Given the description of an element on the screen output the (x, y) to click on. 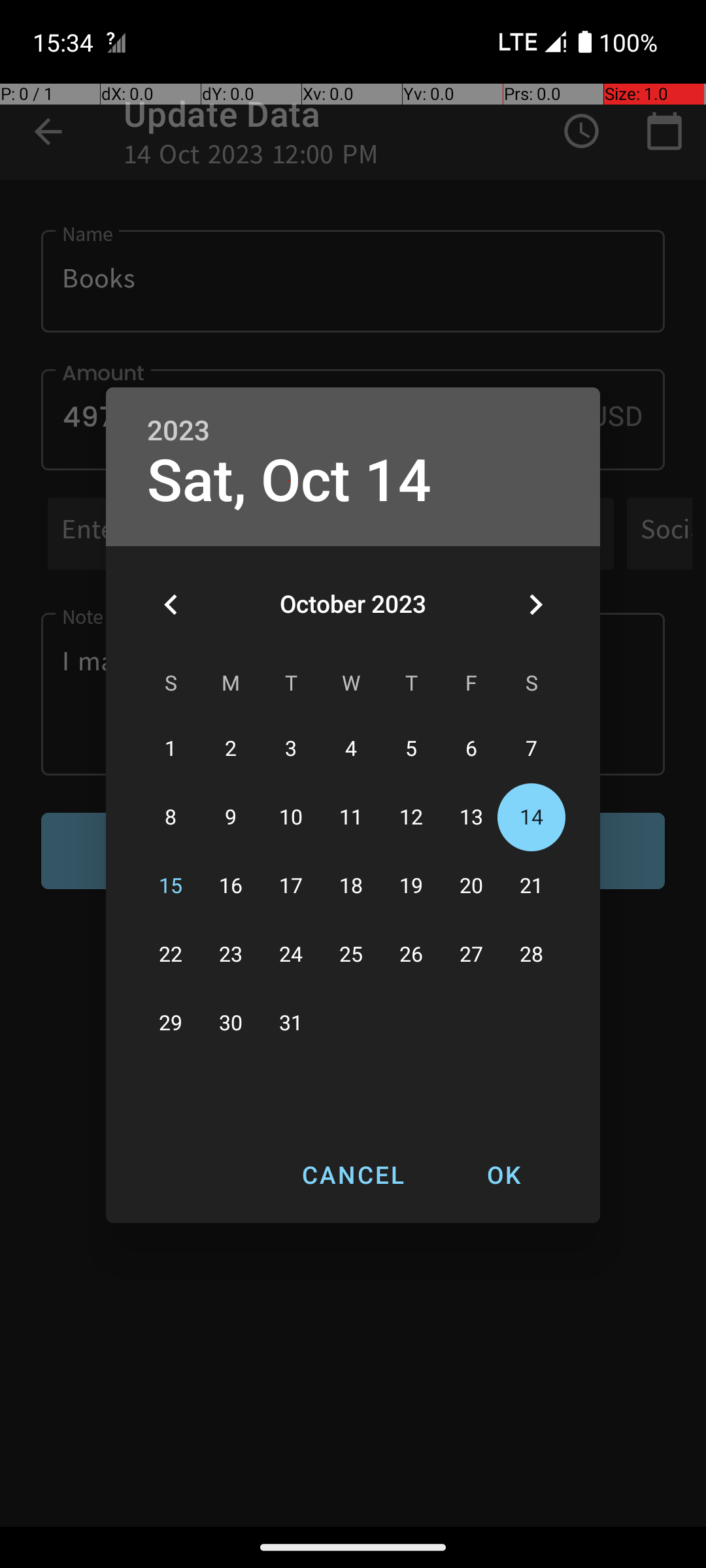
Sat, Oct 14 Element type: android.widget.TextView (289, 480)
